Given the description of an element on the screen output the (x, y) to click on. 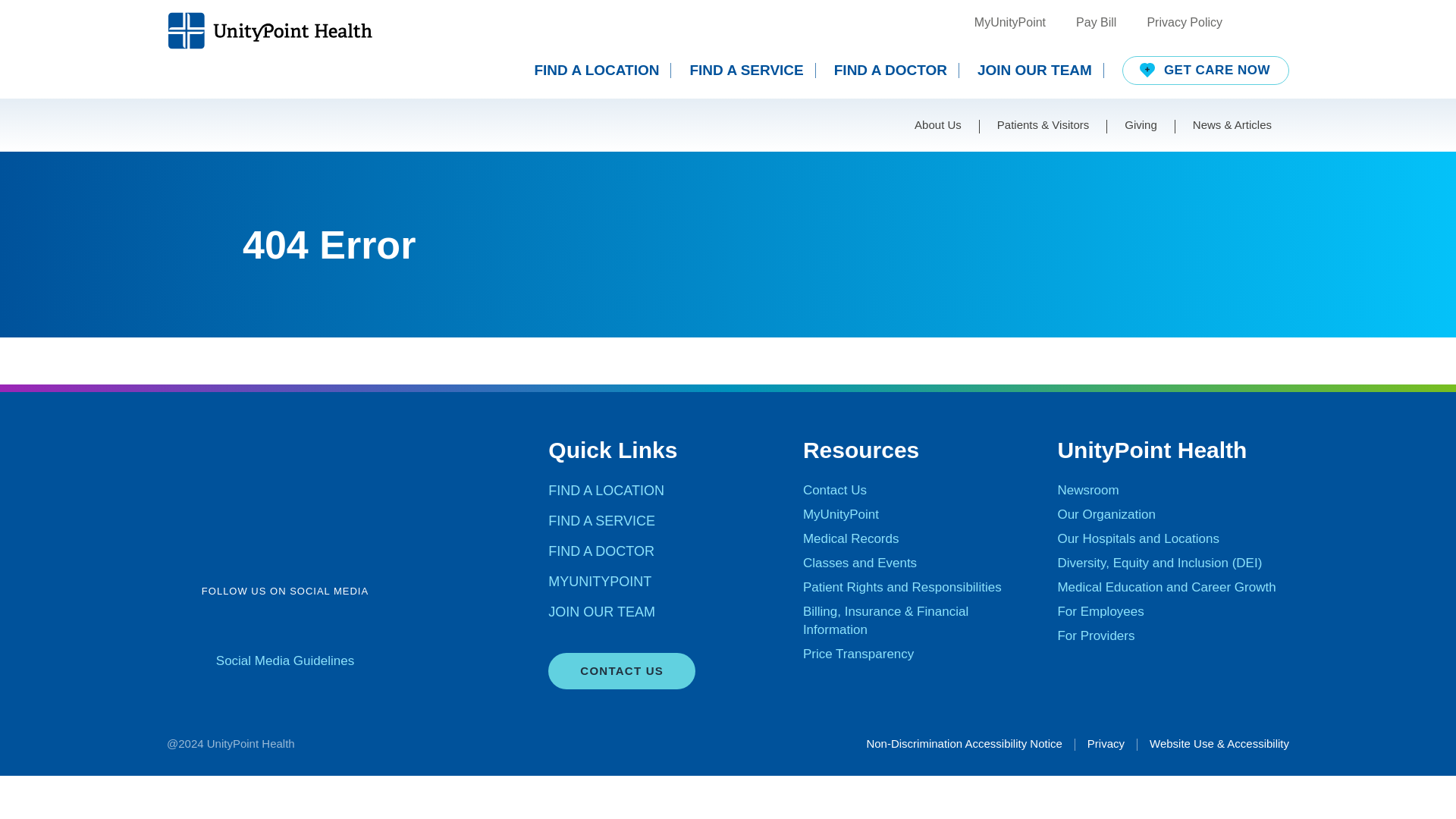
Privacy Policy (1185, 22)
FIND A LOCATION (605, 490)
CONTACT US (621, 670)
Facebook (186, 626)
Social Media Guidelines (284, 660)
About Us (937, 124)
Pinterest (383, 626)
FIND A SERVICE (751, 69)
MYUNITYPOINT (599, 581)
Instagram (304, 626)
